Given the description of an element on the screen output the (x, y) to click on. 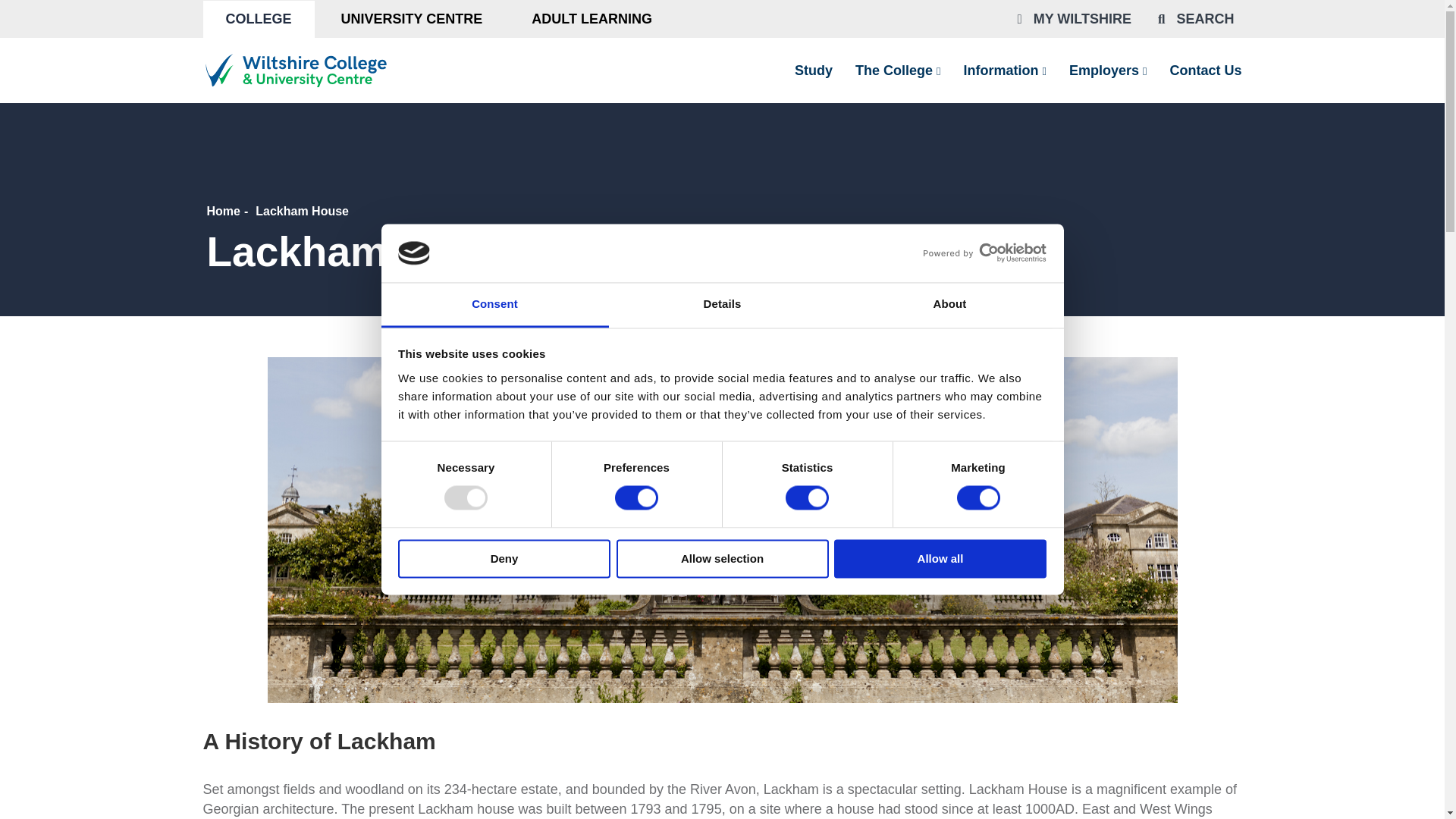
About (948, 304)
Details (721, 304)
Consent (494, 304)
